Given the description of an element on the screen output the (x, y) to click on. 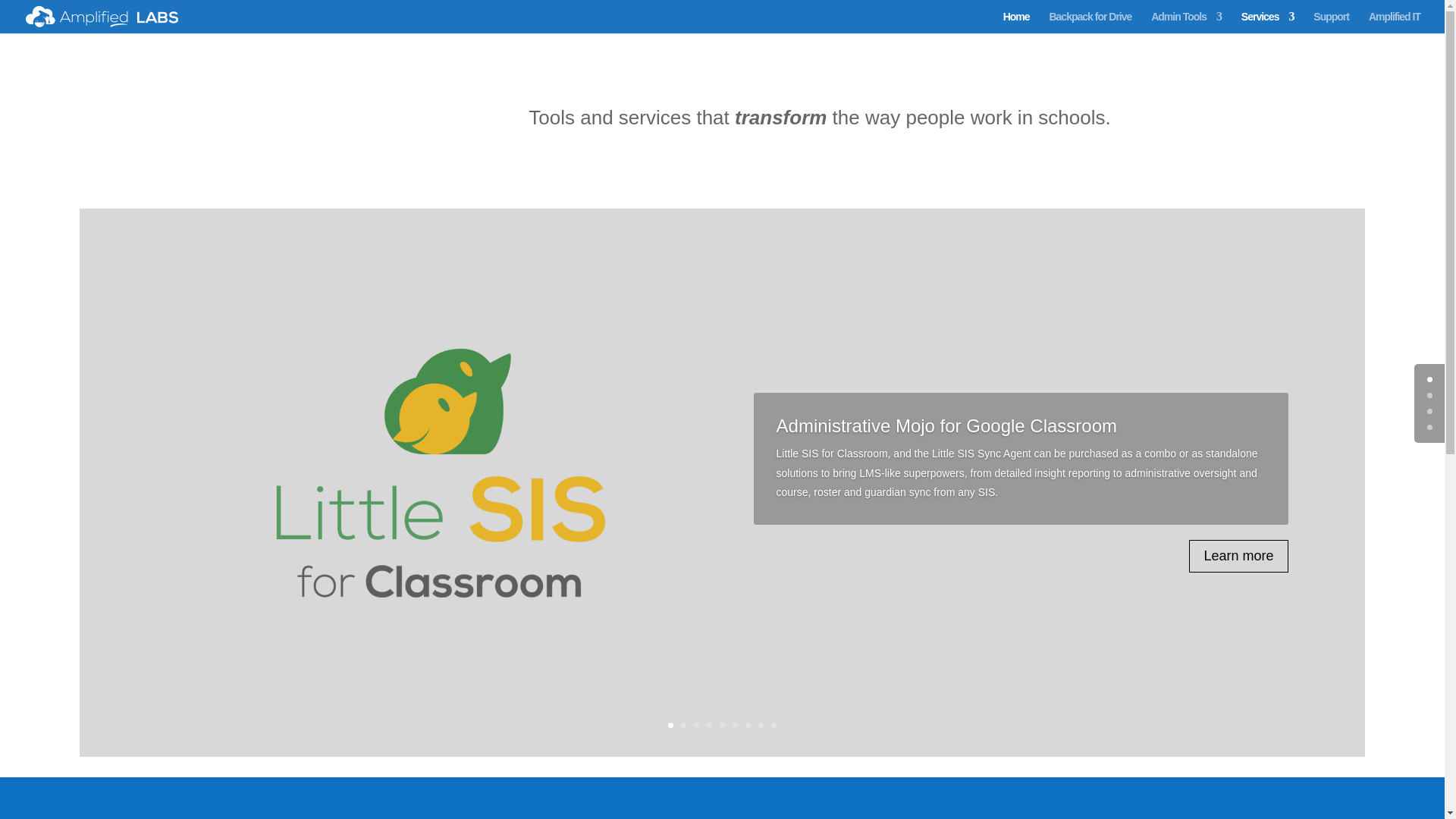
Services (1267, 22)
Support (1331, 22)
Amplified IT (1394, 22)
Admin Tools (1186, 22)
Home (1016, 22)
Backpack for Drive (1089, 22)
